Given the description of an element on the screen output the (x, y) to click on. 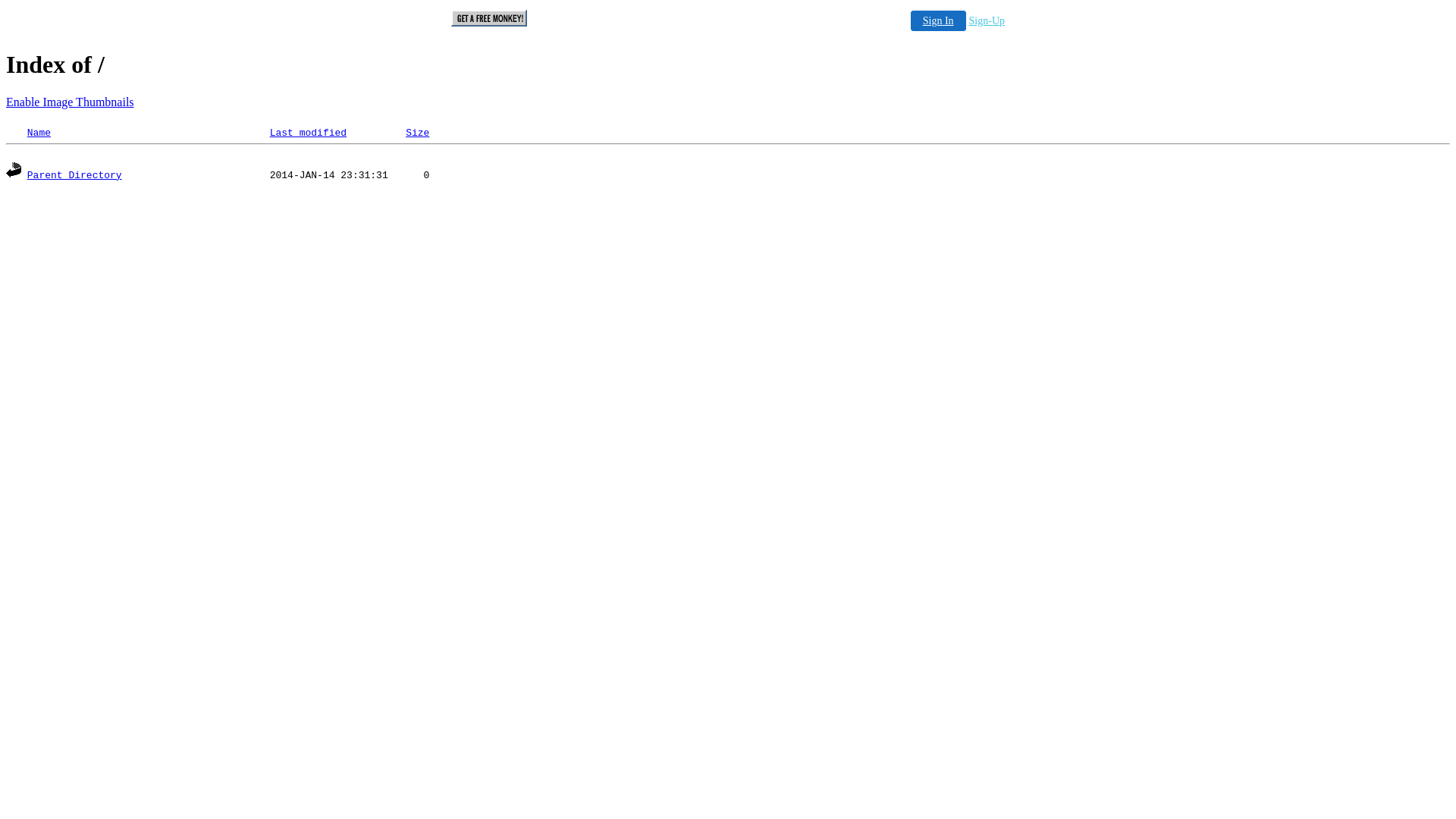
Enable Image Thumbnails Element type: text (70, 101)
Name Element type: text (38, 132)
Sign In Element type: text (938, 20)
Parent Directory Element type: text (74, 175)
Last modified Element type: text (307, 132)
Size Element type: text (417, 132)
Sign-Up Element type: text (986, 20)
